Given the description of an element on the screen output the (x, y) to click on. 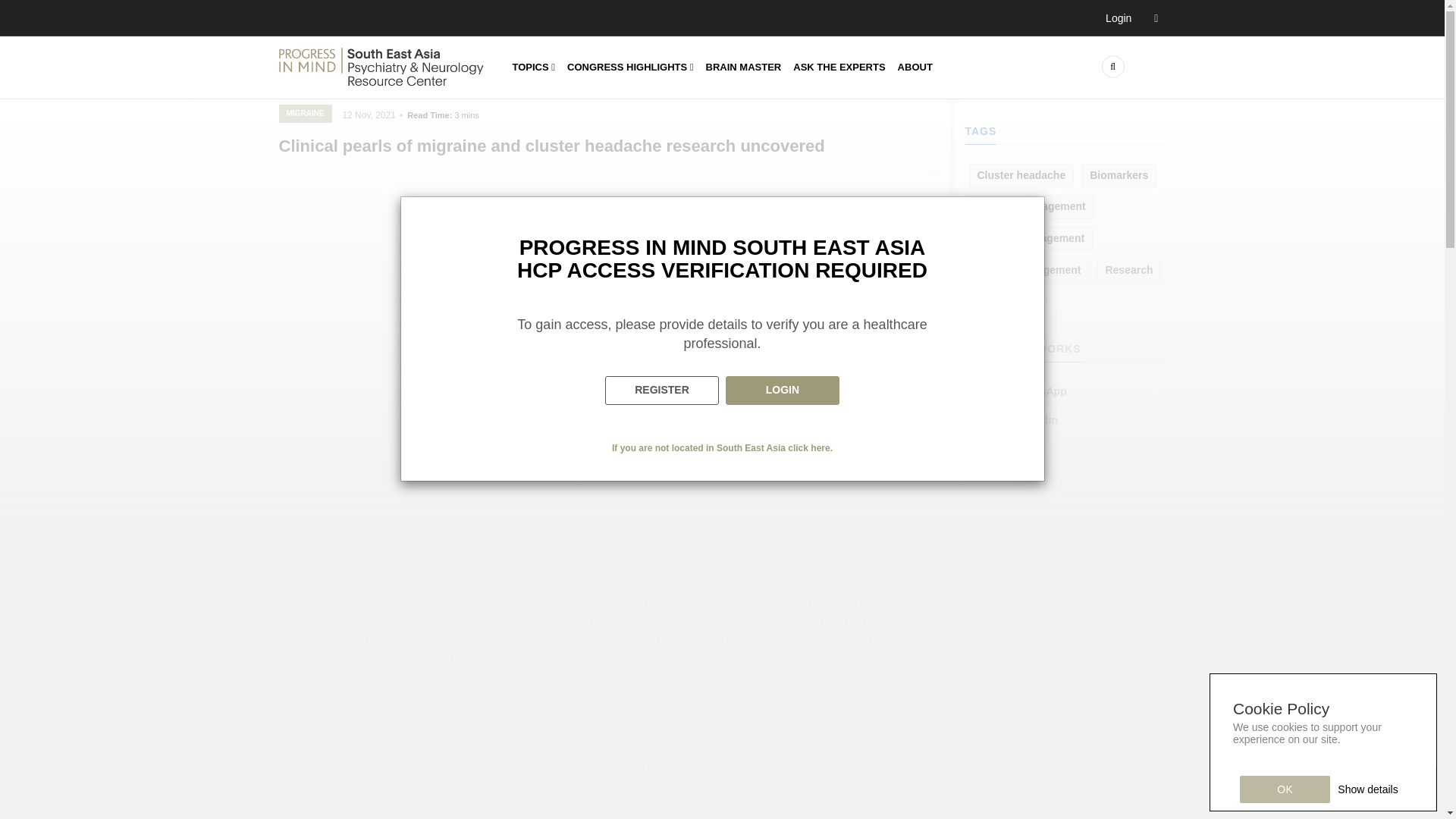
TOPICS (534, 67)
ASK THE EXPERTS (839, 67)
CONGRESS HIGHLIGHTS (630, 67)
BRAIN MASTER (743, 67)
OK (1285, 789)
Login (1131, 18)
Search (1020, 92)
